Given the description of an element on the screen output the (x, y) to click on. 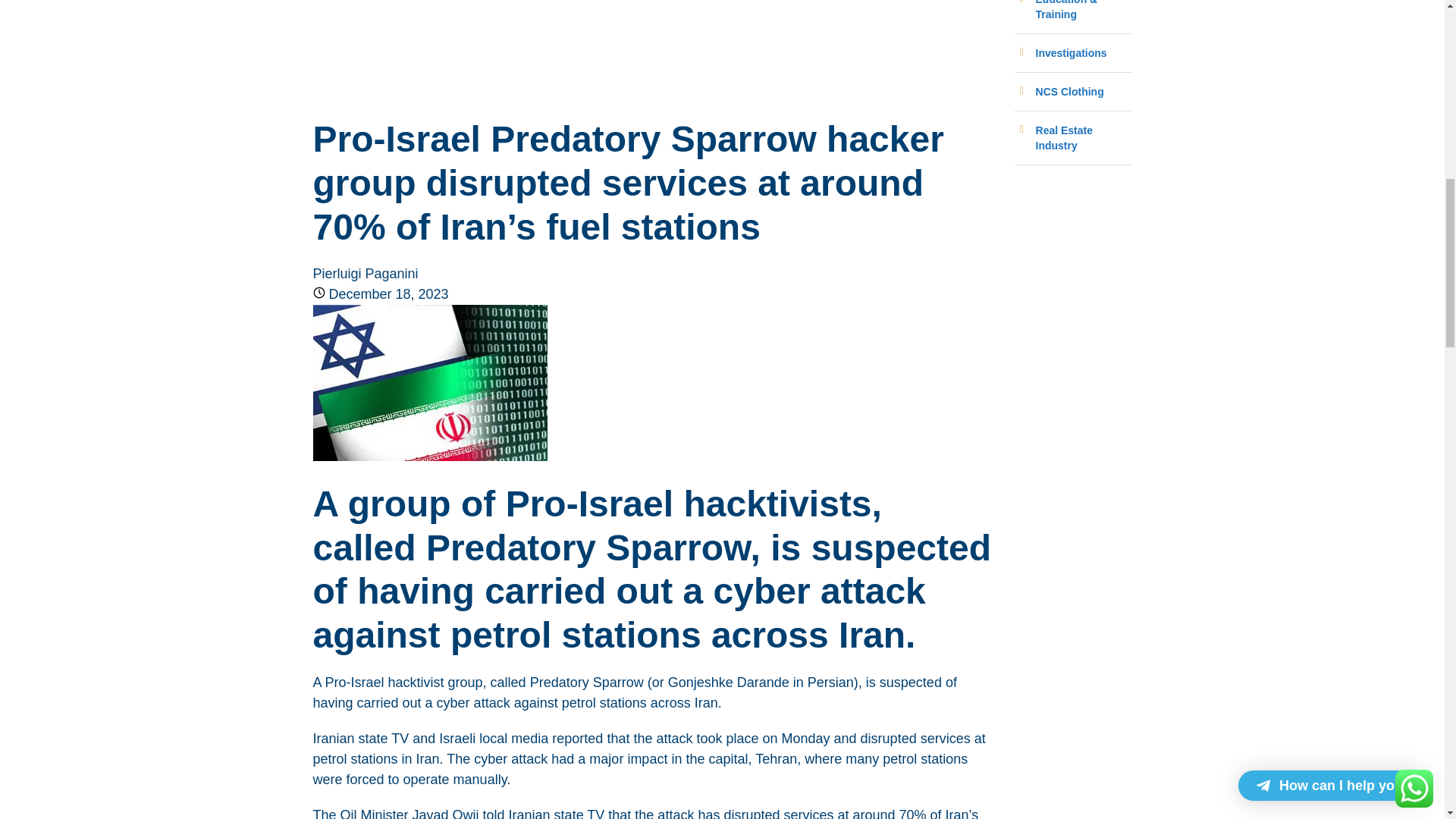
Advertisement (652, 40)
